Given the description of an element on the screen output the (x, y) to click on. 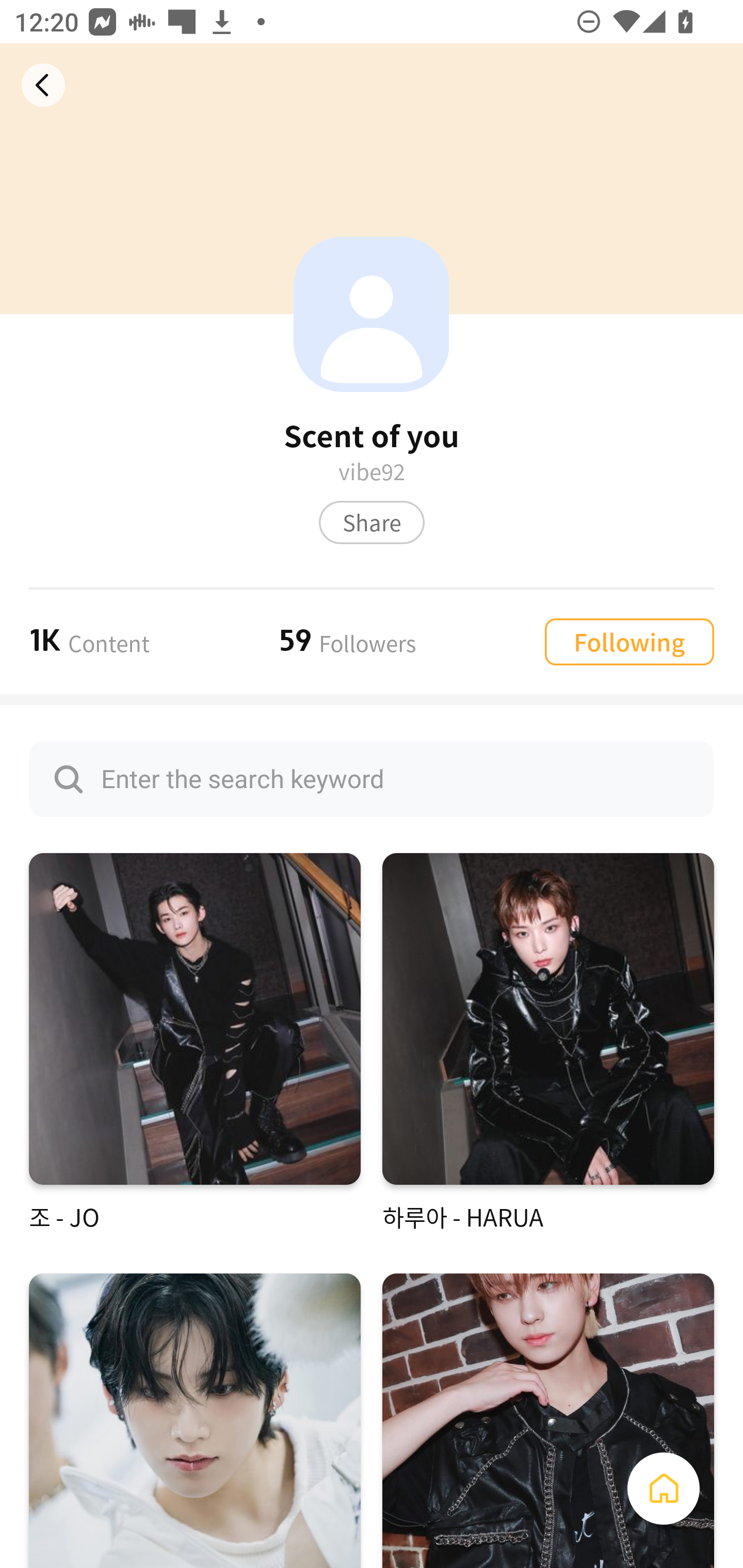
Share (371, 522)
Following (629, 640)
Enter the search keyword (371, 778)
조  -  JO (194, 1043)
하루아  -  HARUA (548, 1043)
